Given the description of an element on the screen output the (x, y) to click on. 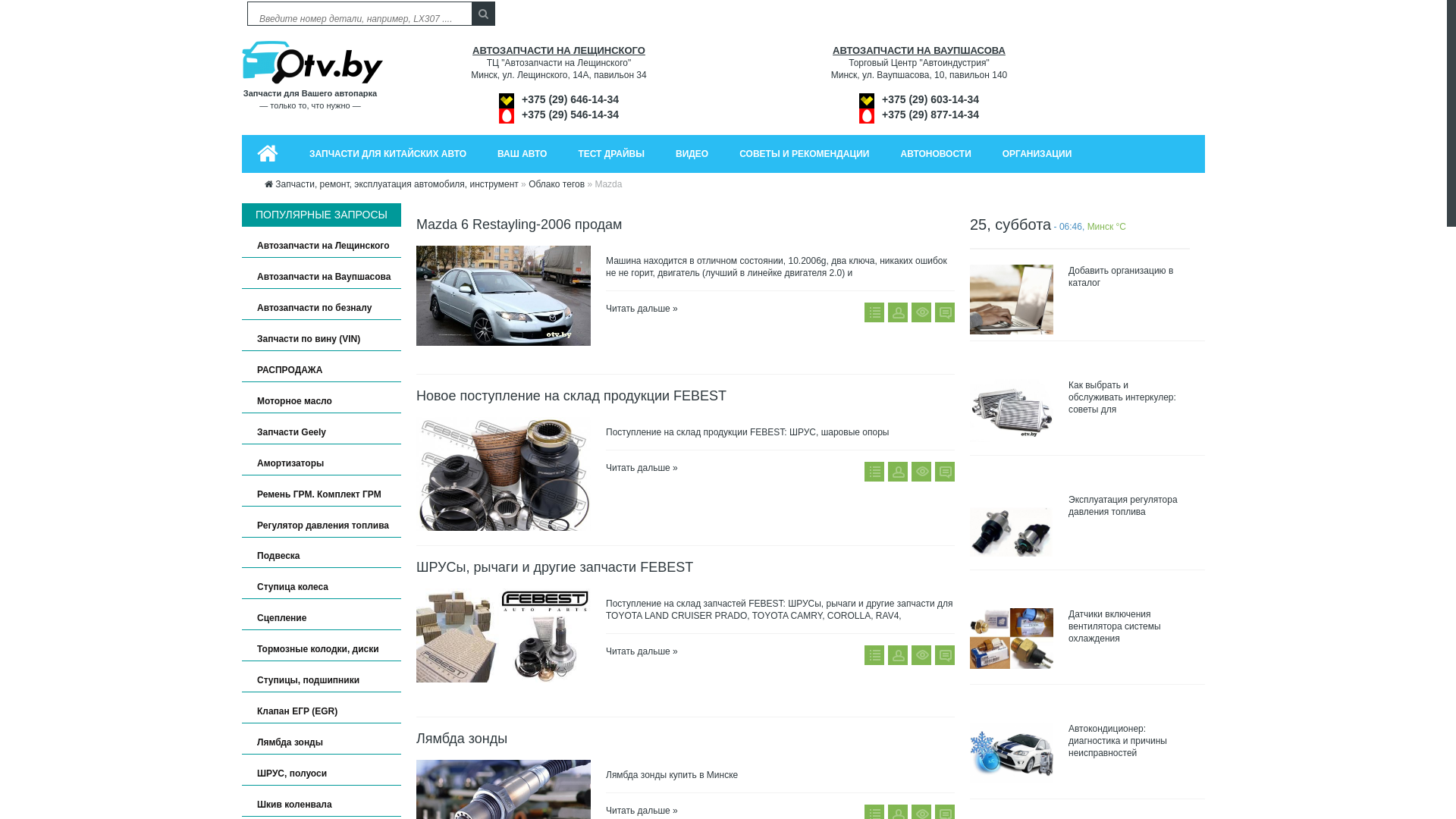
+375 (29) 603-14-34 Element type: text (930, 99)
+375 (29) 877-14-34 Element type: text (930, 114)
+375 (29) 646-14-34 Element type: text (569, 99)
+375 (29) 546-14-34 Element type: text (569, 114)
